Given the description of an element on the screen output the (x, y) to click on. 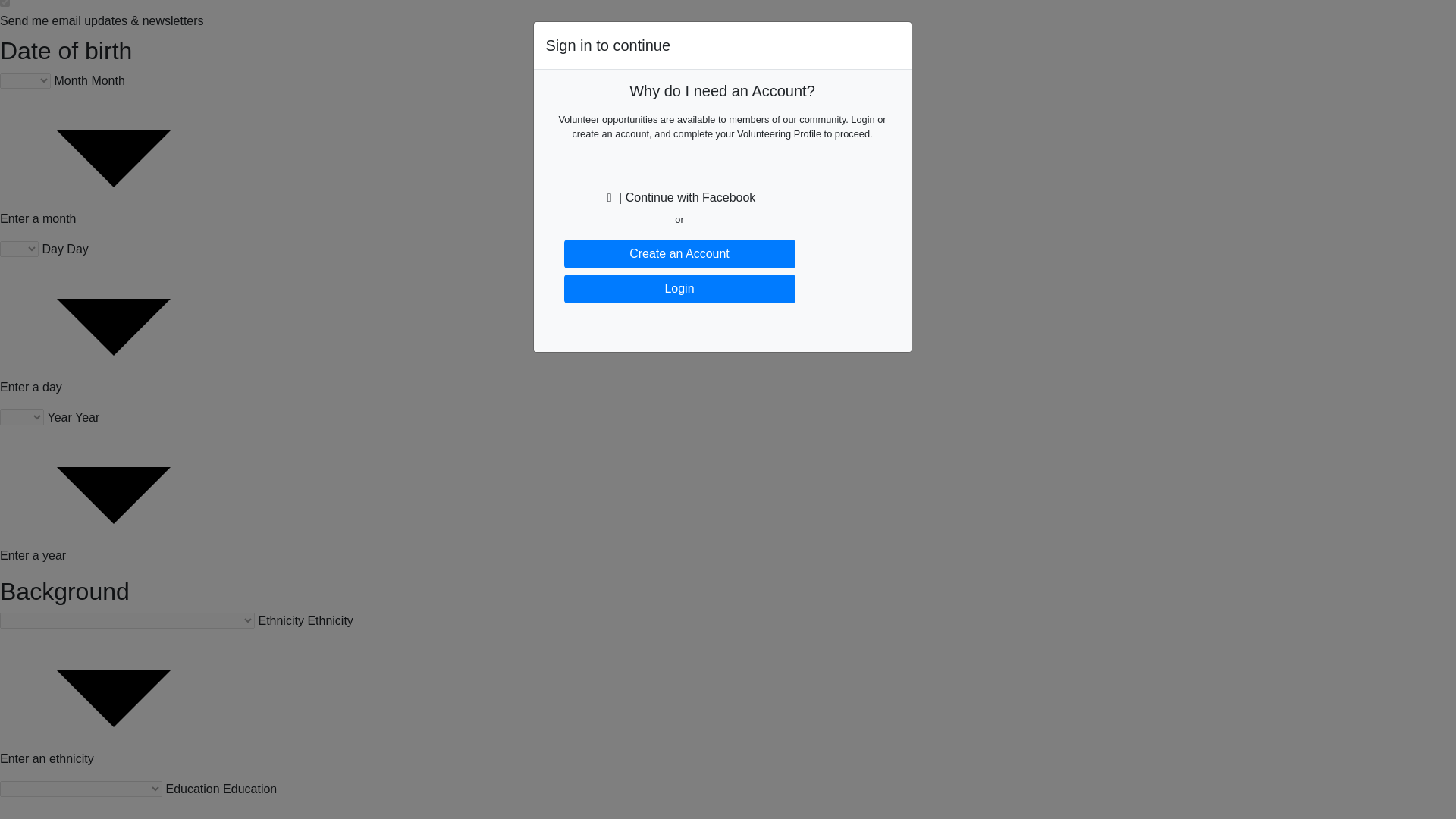
1 (5, 3)
